Given the description of an element on the screen output the (x, y) to click on. 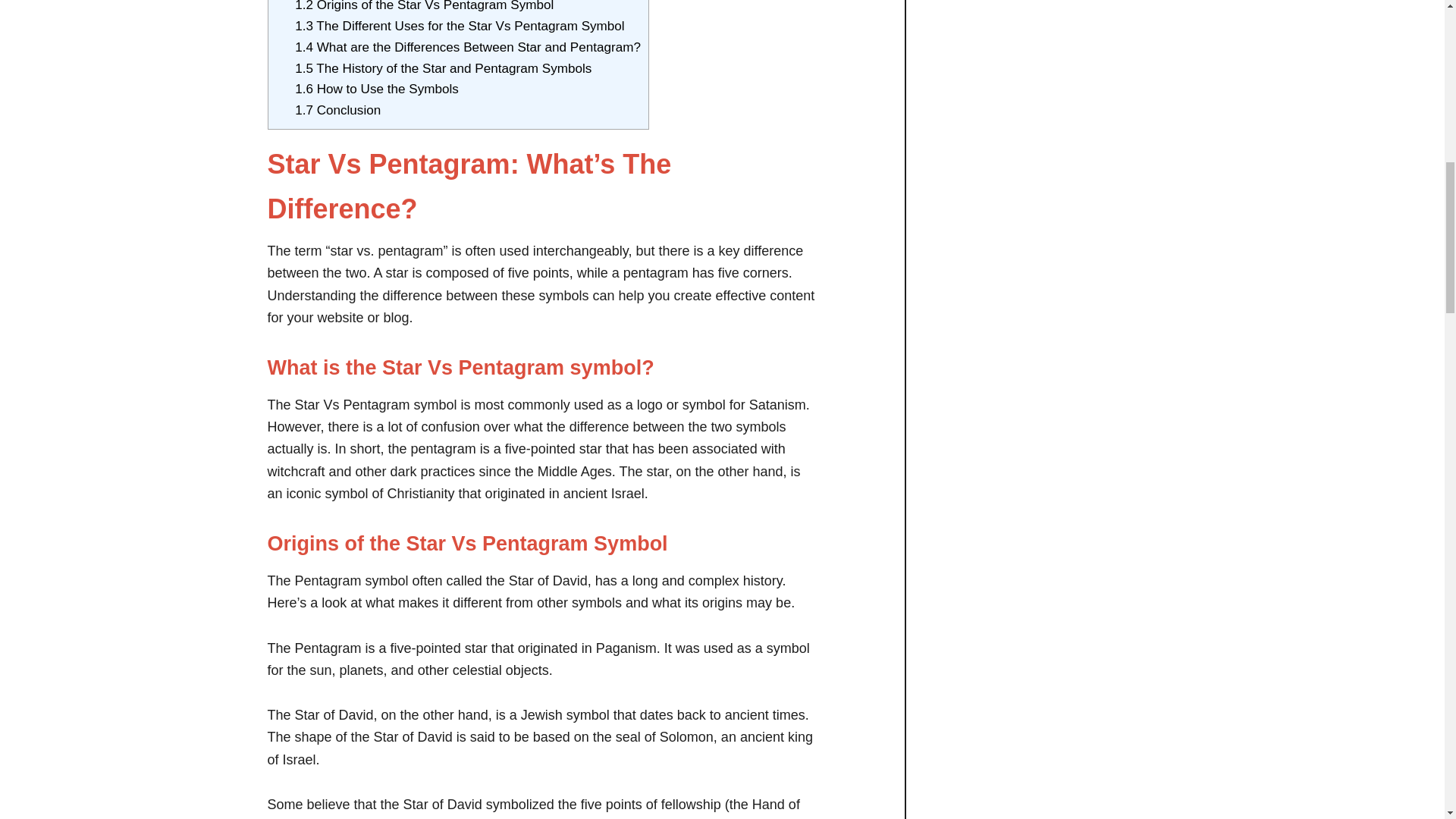
1.4 What are the Differences Between Star and Pentagram? (467, 47)
1.3 The Different Uses for the Star Vs Pentagram Symbol (459, 25)
1.6 How to Use the Symbols (376, 88)
1.7 Conclusion (337, 110)
1.5 The History of the Star and Pentagram Symbols (443, 68)
1.2 Origins of the Star Vs Pentagram Symbol (424, 6)
